Given the description of an element on the screen output the (x, y) to click on. 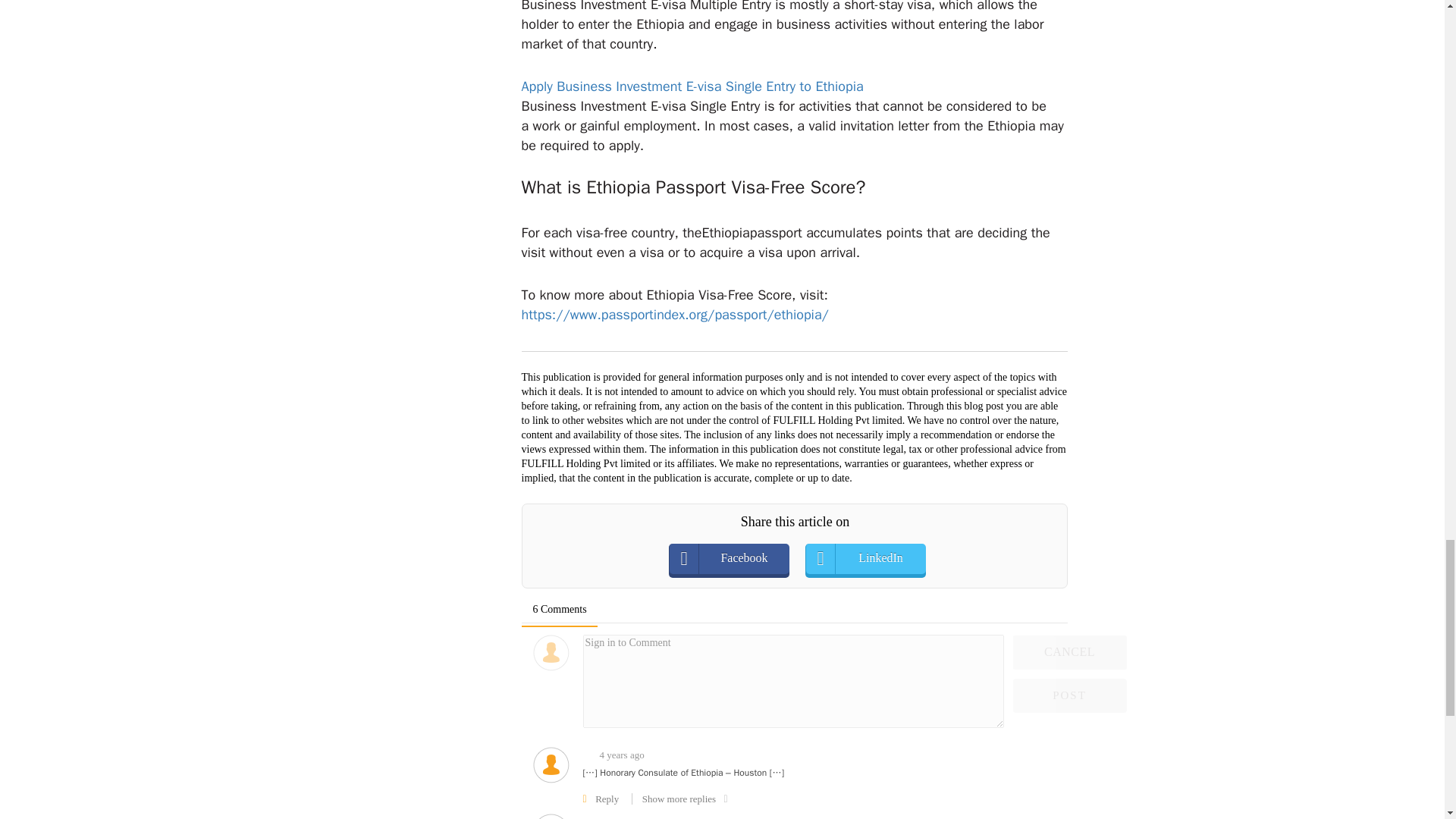
Apply Business Investment E-visa Single Entry to Ethiopia (692, 86)
CANCEL (1069, 652)
Facebook (743, 558)
LinkedIn (880, 558)
POST (1069, 695)
